Given the description of an element on the screen output the (x, y) to click on. 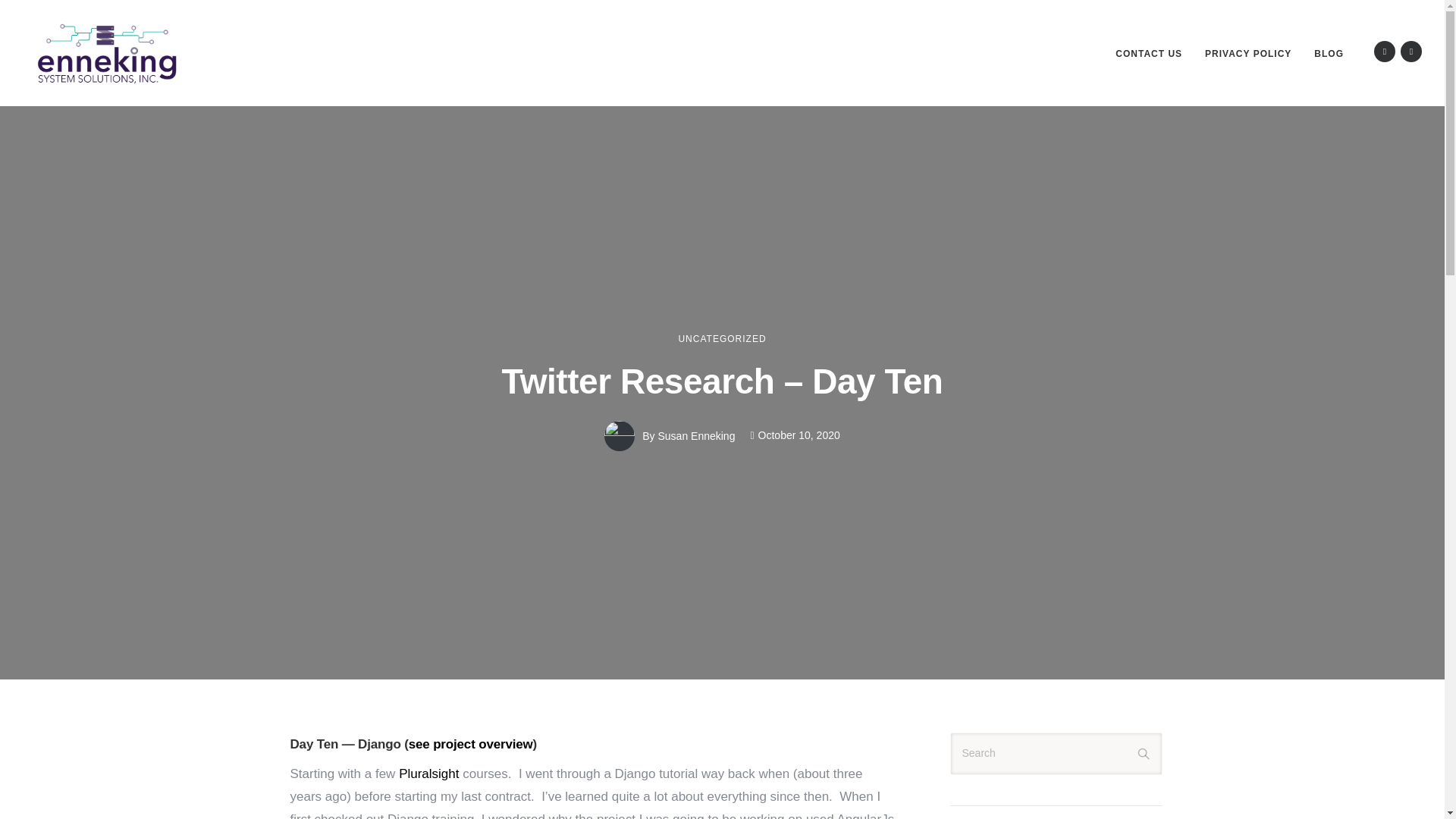
Susan Enneking (696, 435)
see project overview (470, 744)
Privacy Policy (1247, 53)
CONTACT US (1148, 53)
PRIVACY POLICY (1247, 53)
October 10, 2020 (794, 435)
Contact Us (1148, 53)
Pluralsight (428, 773)
Blog (1328, 53)
BLOG (1328, 53)
UNCATEGORIZED (721, 338)
